Given the description of an element on the screen output the (x, y) to click on. 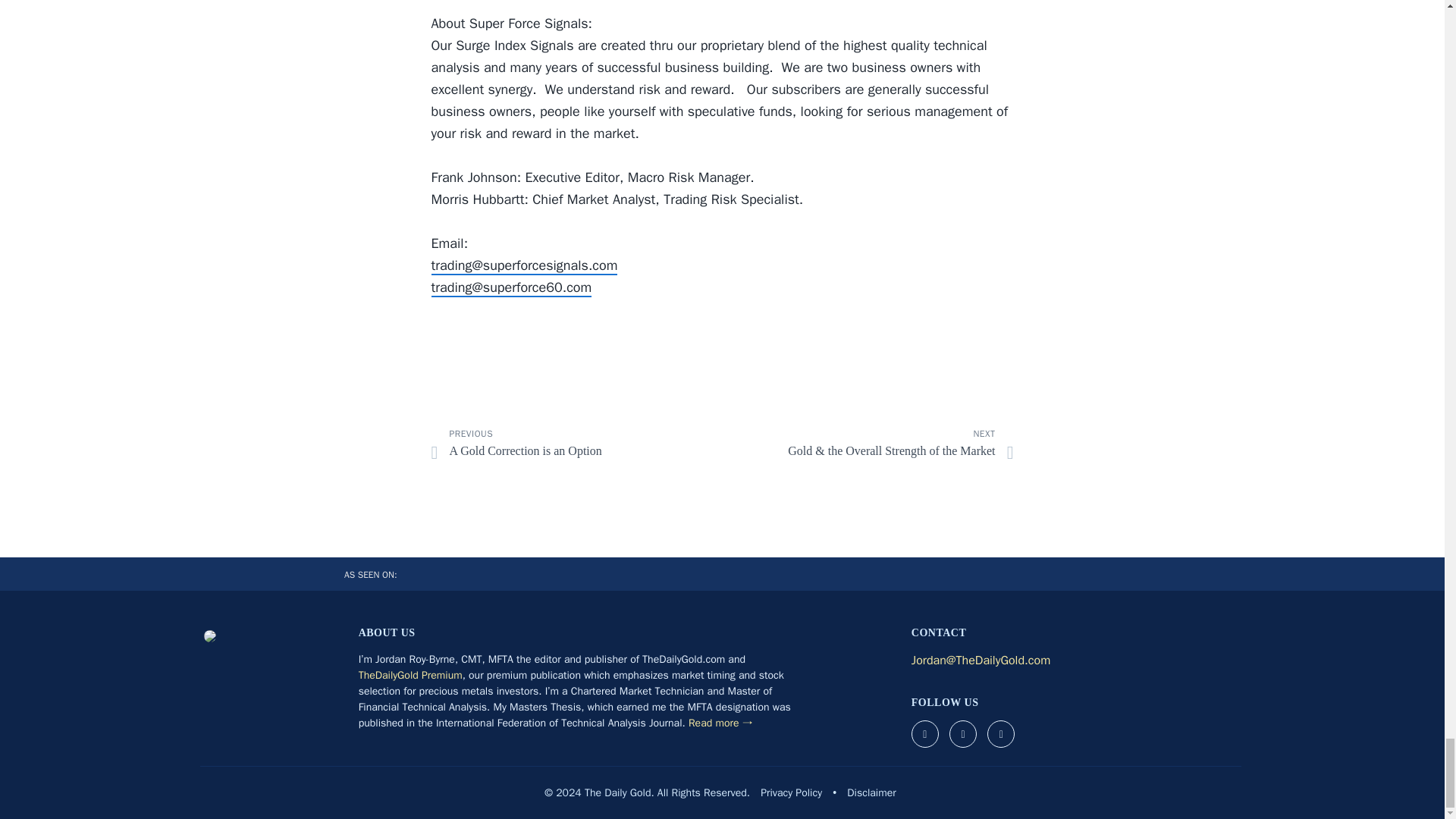
TheDailyGold Premium (410, 675)
Privacy Policy (791, 792)
Disclaimer (871, 792)
